Given the description of an element on the screen output the (x, y) to click on. 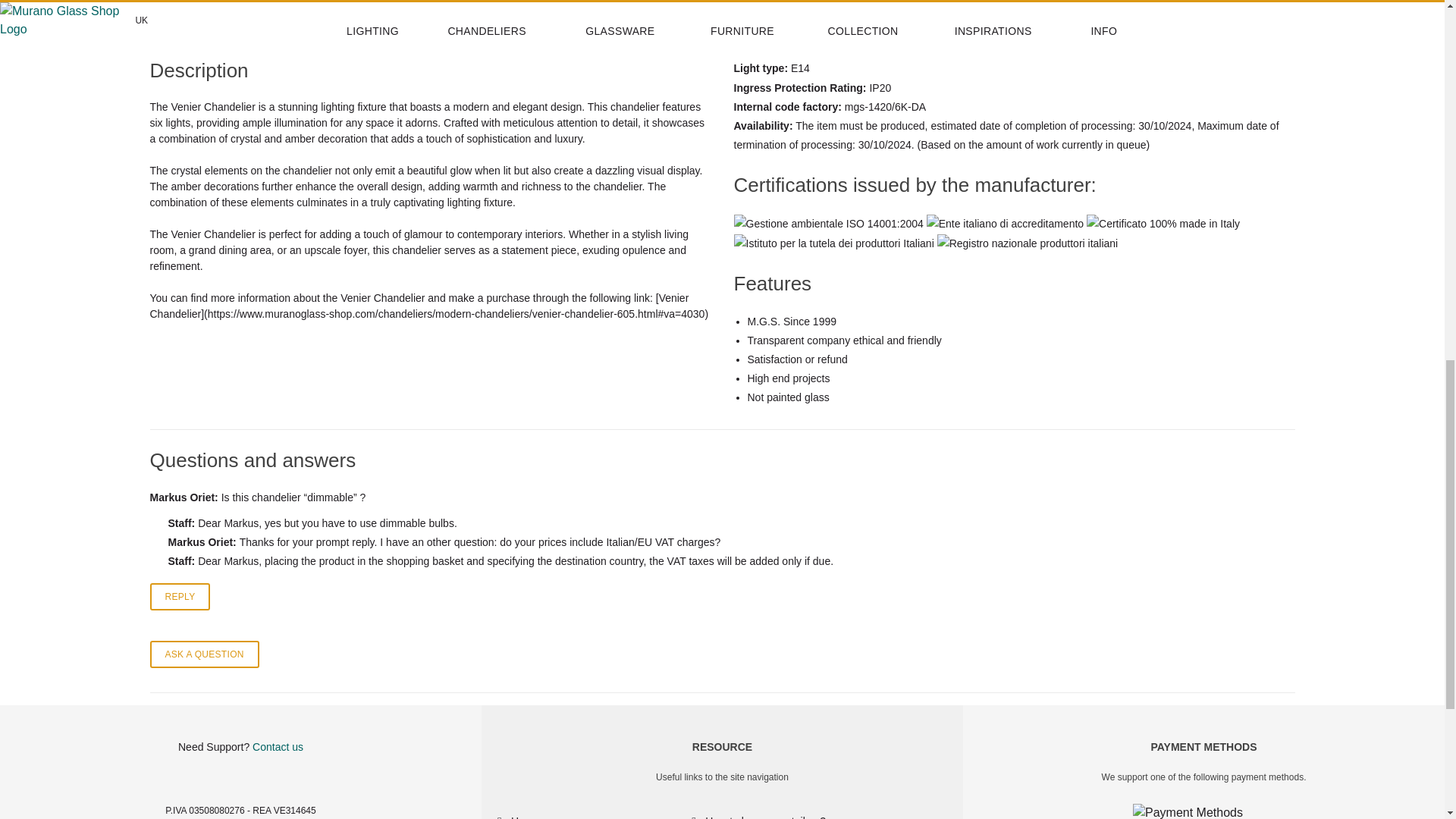
Gestione ambientale ISO 14001:2004 (828, 223)
Istituto per la tutela dei produttori Italiani (833, 243)
Registro nazionale produttori italiani (1027, 243)
Ente italiano di accreditamento (1004, 223)
